Given the description of an element on the screen output the (x, y) to click on. 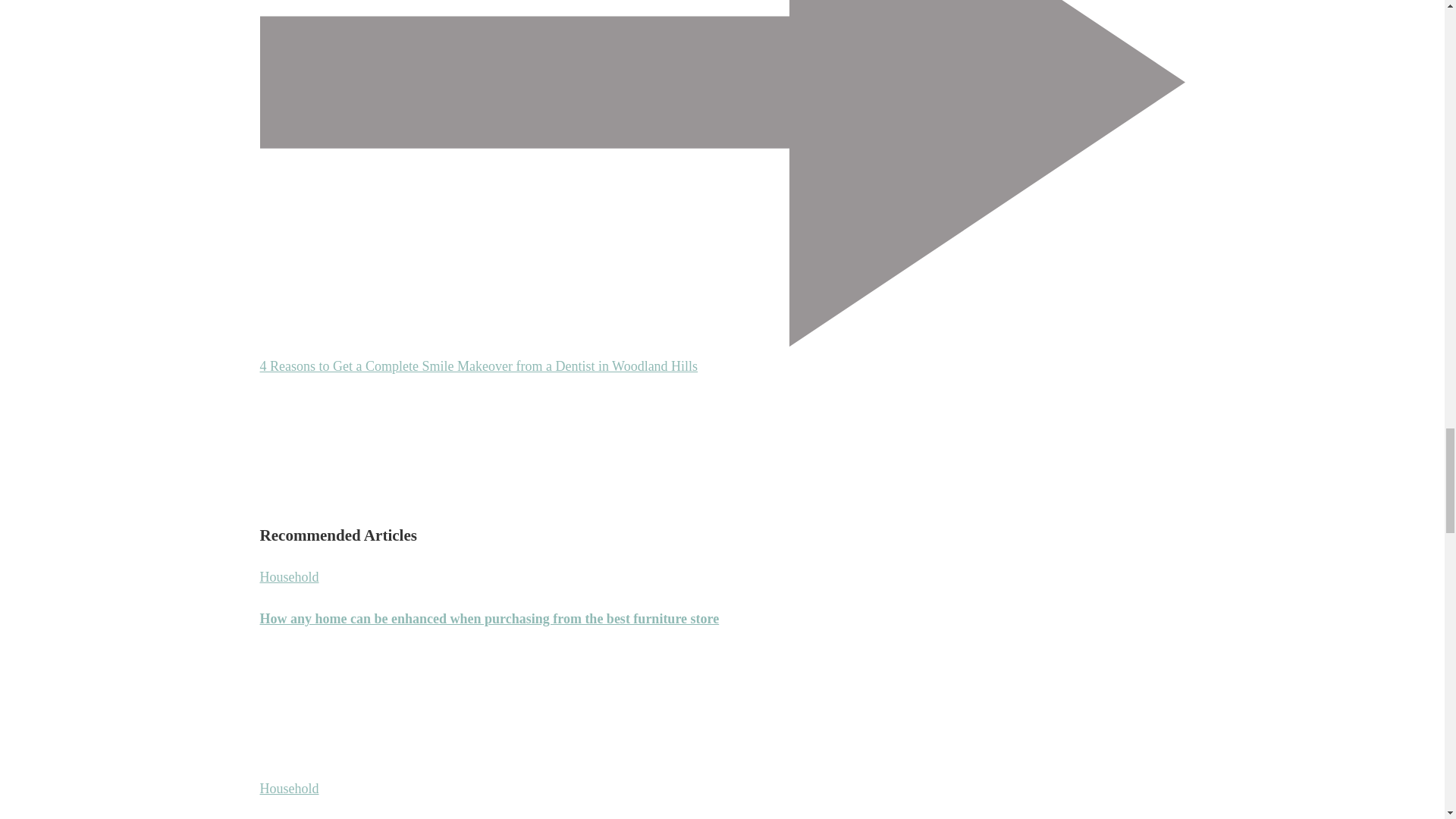
Household (288, 788)
Household (288, 576)
